Given the description of an element on the screen output the (x, y) to click on. 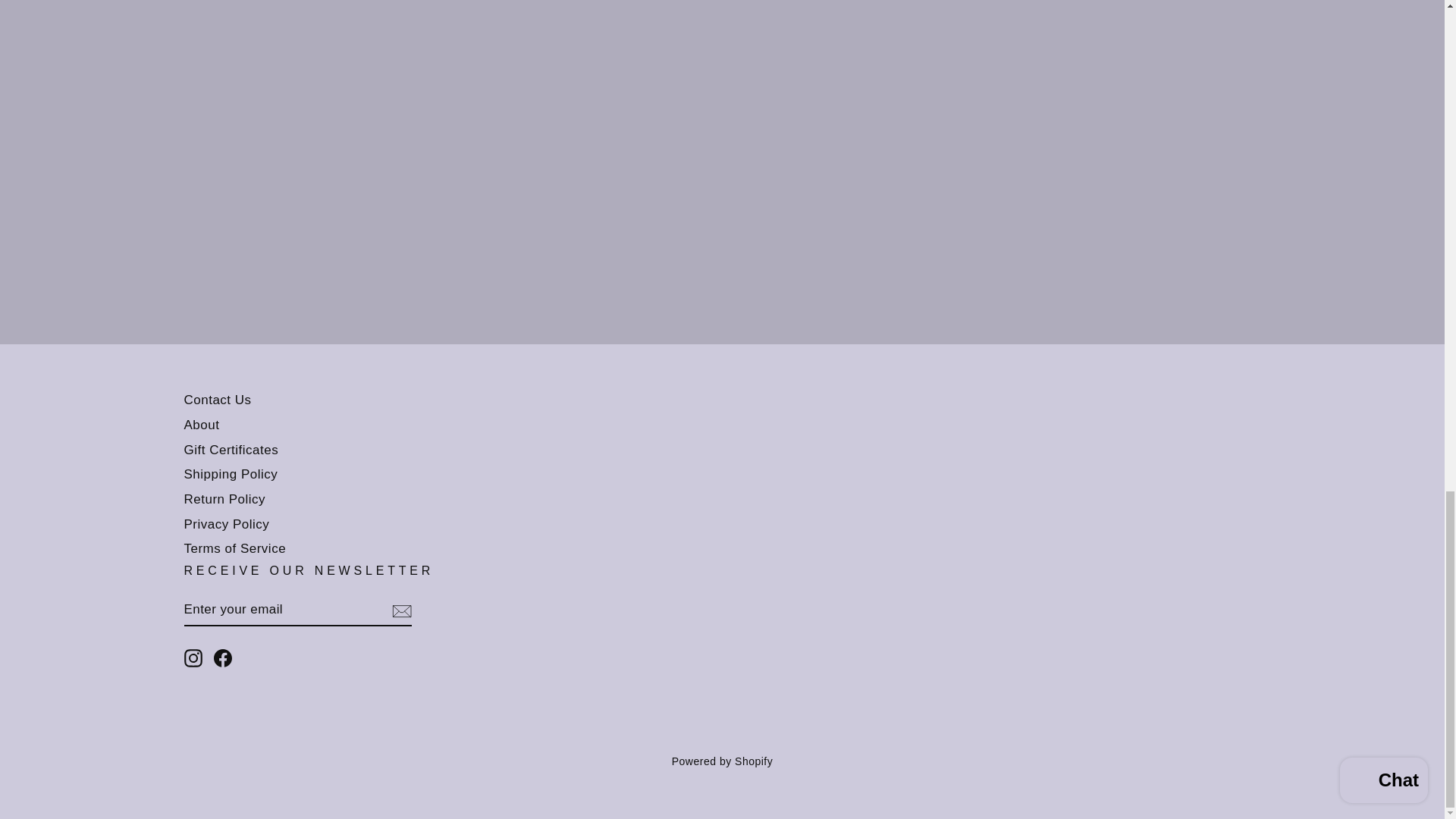
icon-email (400, 610)
Betsy Fisher on Facebook (222, 658)
instagram (192, 658)
Betsy Fisher on Instagram (192, 658)
